Given the description of an element on the screen output the (x, y) to click on. 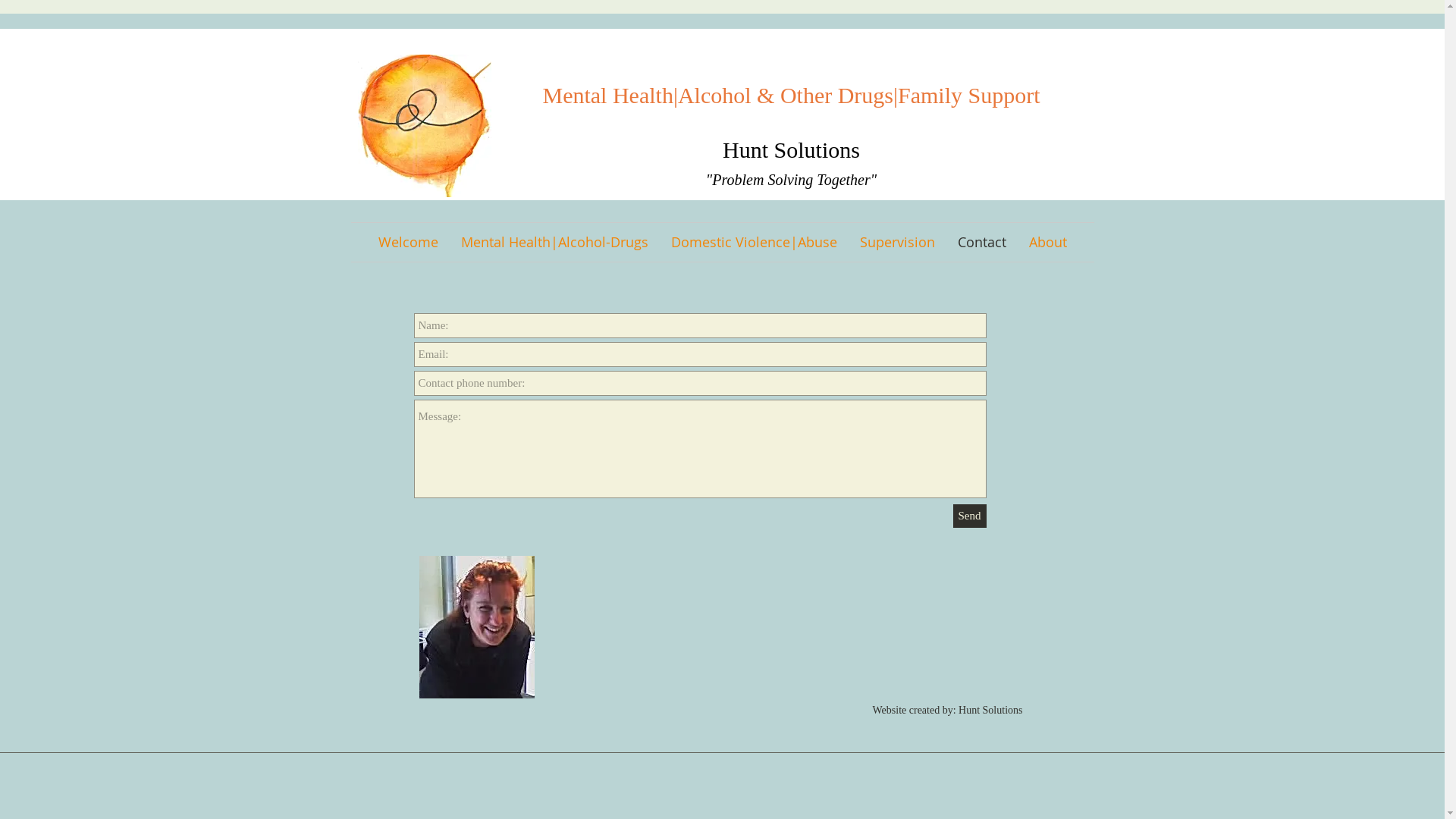
Google Maps Element type: hover (847, 621)
Welcome Element type: text (408, 241)
Mental Health|Alcohol-Drugs Element type: text (553, 241)
Contact Element type: text (981, 241)
Send Element type: text (968, 515)
Supervision Element type: text (896, 241)
Hunt Solutions Element type: text (790, 149)
Mental Health|Alcohol & Other Drugs|Family Support Element type: text (790, 94)
About Element type: text (1047, 241)
"Problem Solving Together" Element type: text (791, 179)
Domestic Violence|Abuse Element type: text (753, 241)
